Given the description of an element on the screen output the (x, y) to click on. 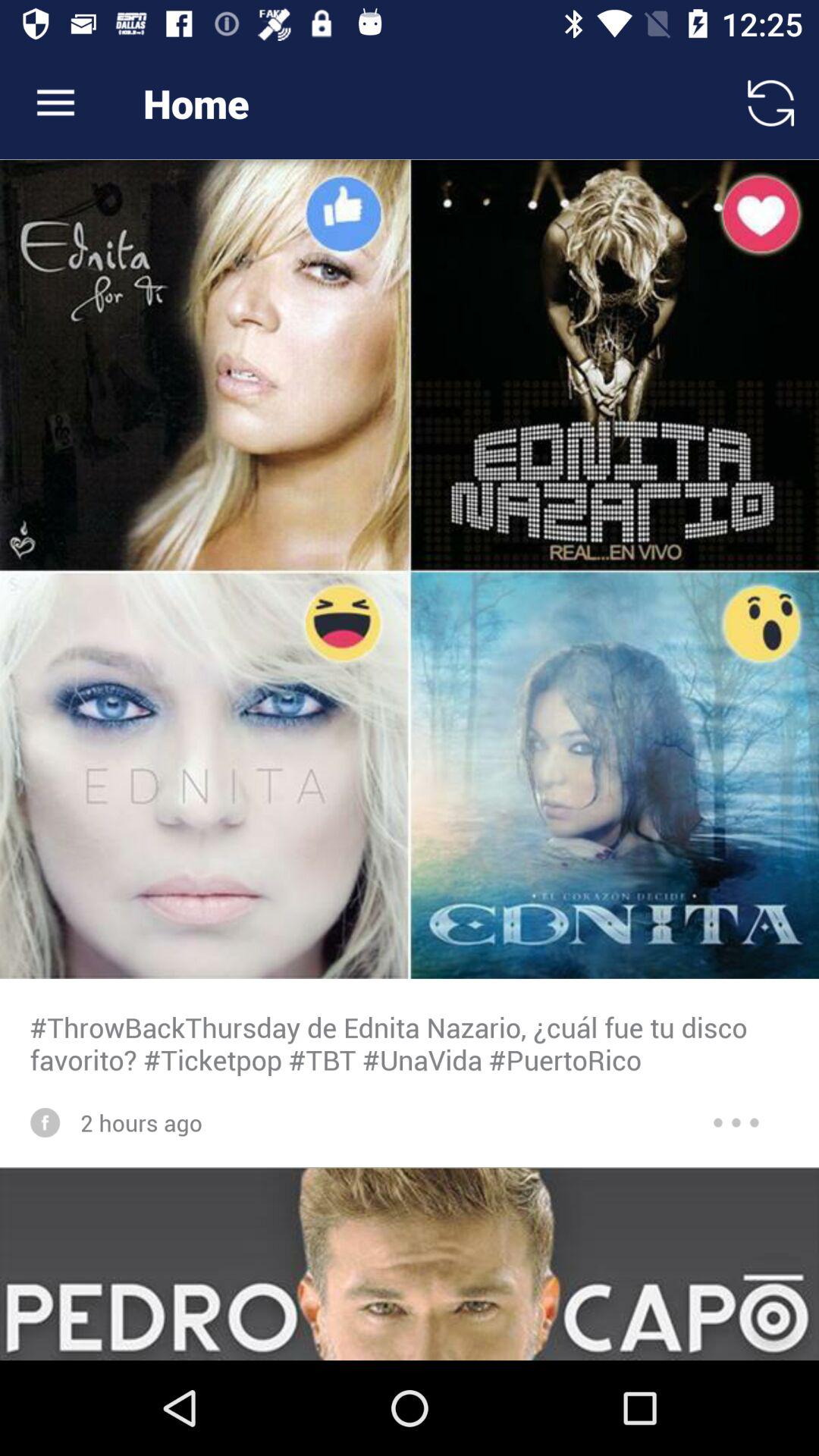
turn off the throwbackthursday de ednita item (409, 1043)
